Given the description of an element on the screen output the (x, y) to click on. 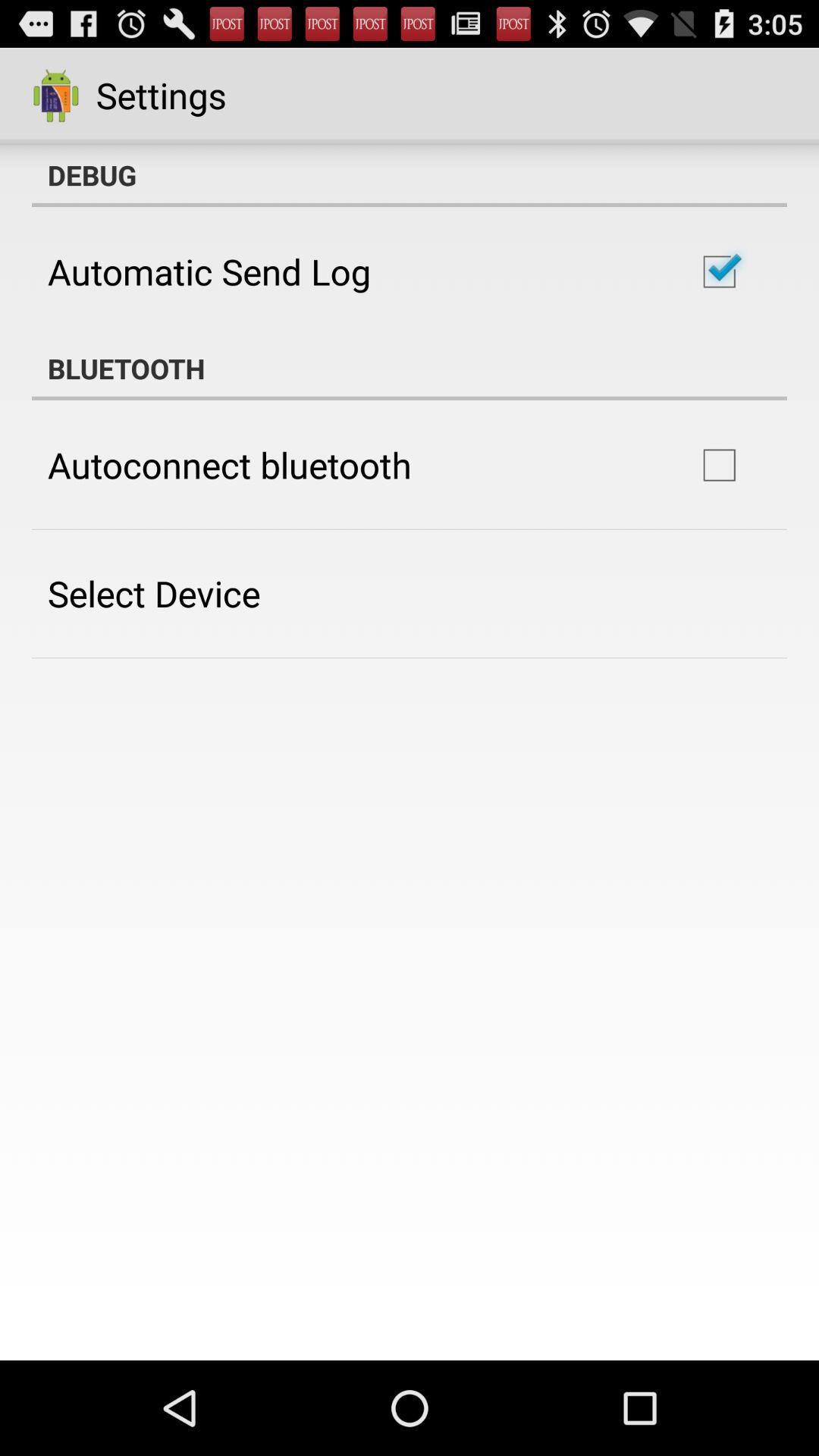
launch the app below the bluetooth (229, 464)
